Given the description of an element on the screen output the (x, y) to click on. 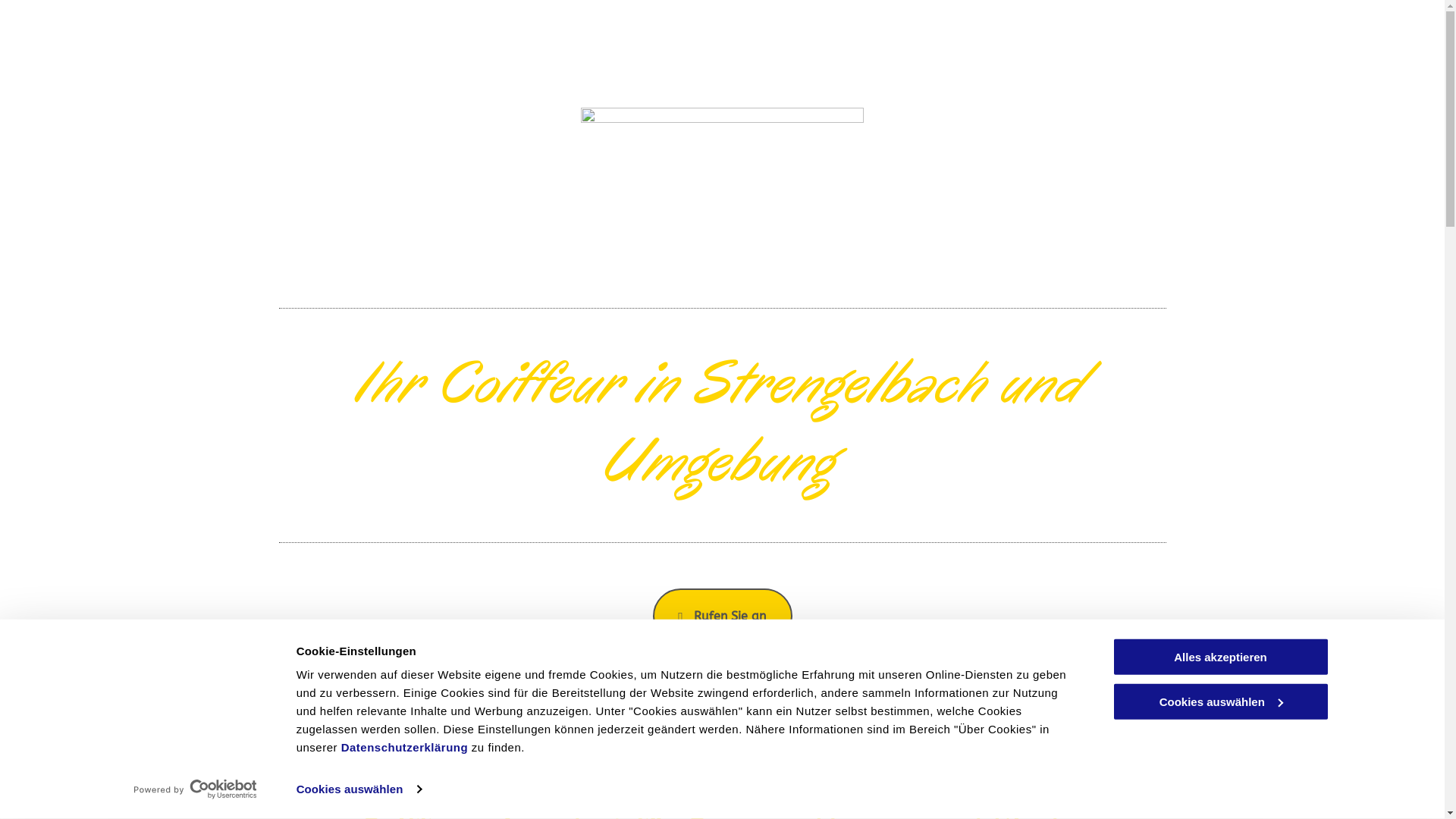
Rufen Sie an Element type: text (721, 615)
Alles akzeptieren Element type: text (1219, 656)
